Given the description of an element on the screen output the (x, y) to click on. 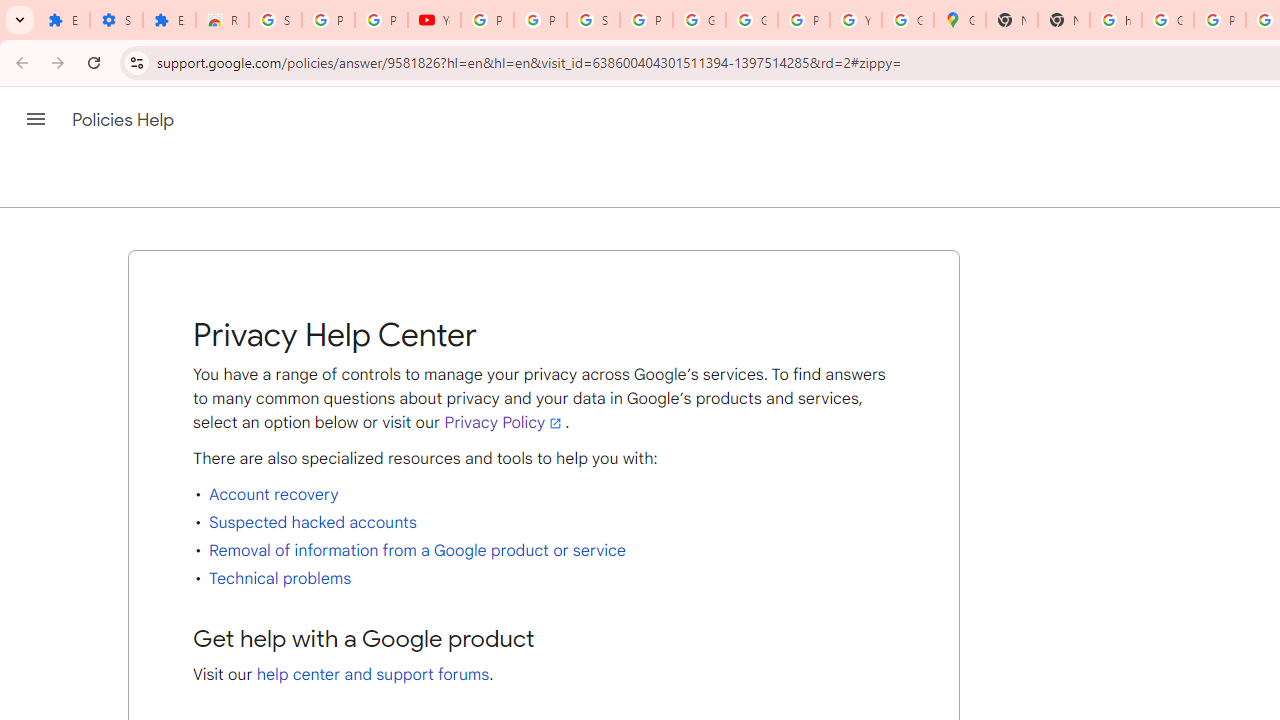
Google Maps (959, 20)
https://scholar.google.com/ (1115, 20)
Settings (116, 20)
Google Account (699, 20)
Account recovery (273, 494)
Extensions (169, 20)
Suspected hacked accounts (312, 522)
Sign in - Google Accounts (275, 20)
Sign in - Google Accounts (593, 20)
Privacy Policy (504, 422)
